Given the description of an element on the screen output the (x, y) to click on. 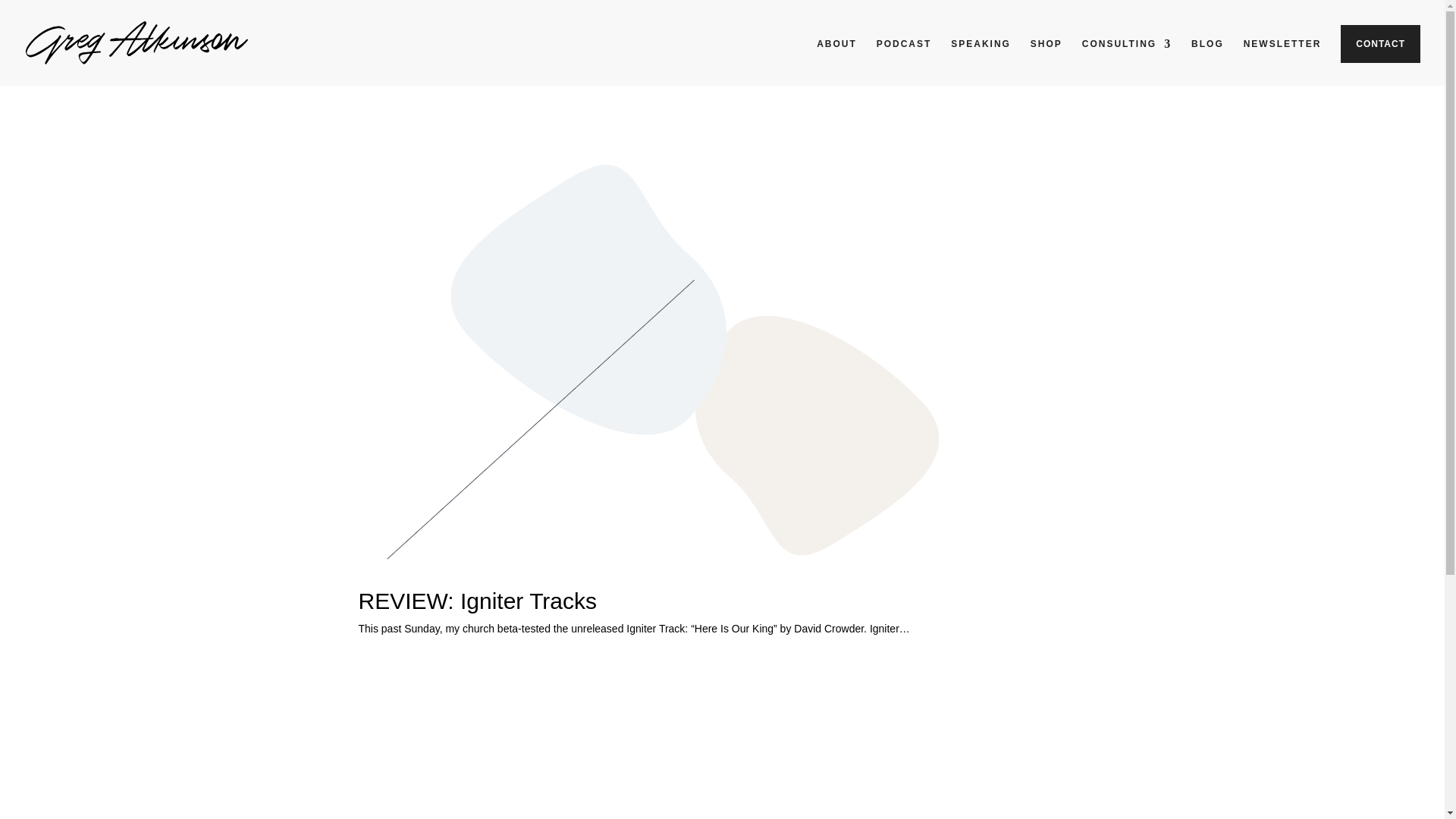
CONTACT (1380, 44)
SPEAKING (980, 56)
NEWSLETTER (1282, 56)
SHOP (1046, 56)
BLOG (1207, 56)
PODCAST (903, 56)
CONSULTING (1126, 56)
ABOUT (836, 56)
